Given the description of an element on the screen output the (x, y) to click on. 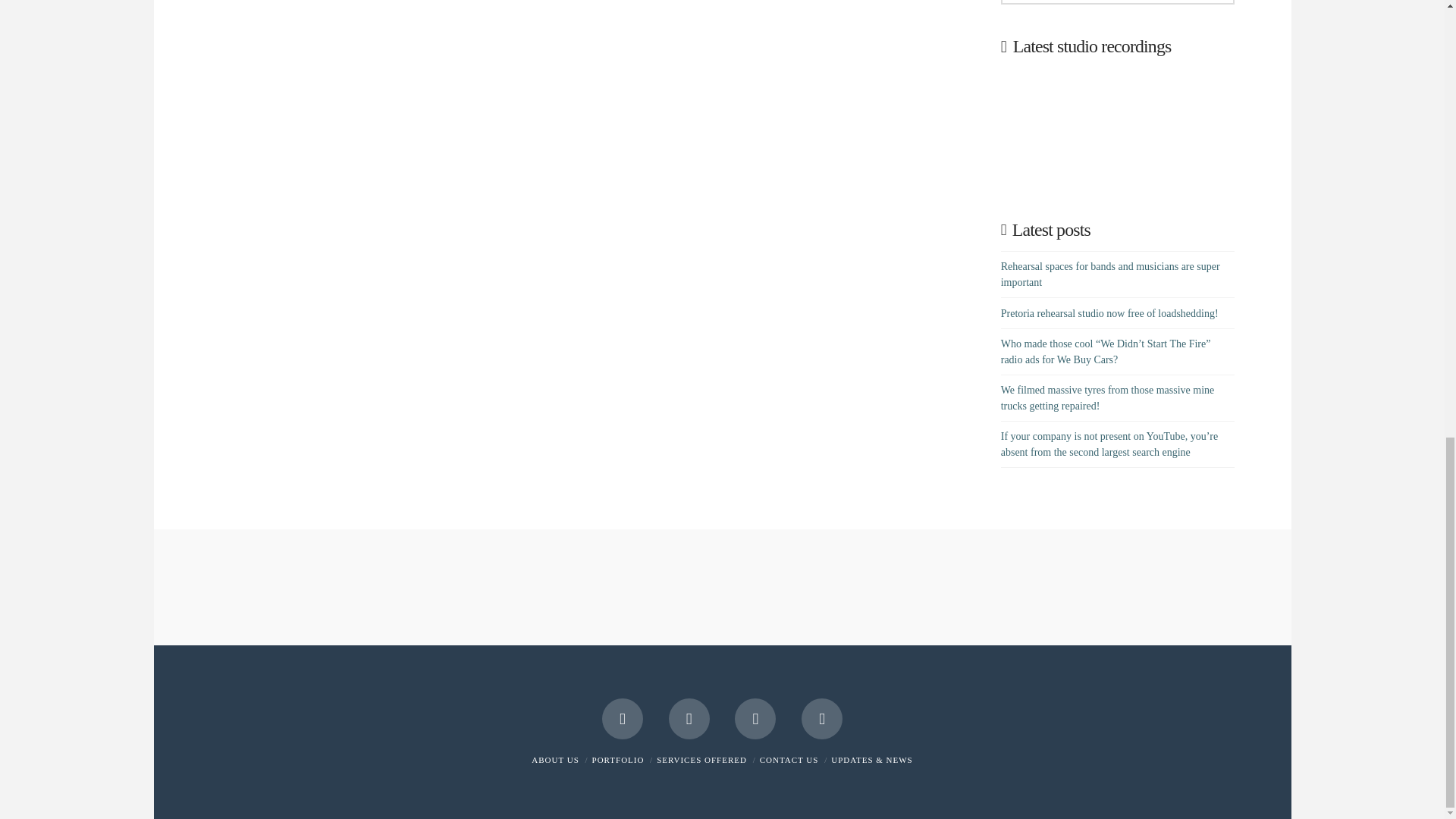
Instagram (755, 718)
SoundCloud (822, 718)
Facebook (622, 718)
YouTube (689, 718)
